Given the description of an element on the screen output the (x, y) to click on. 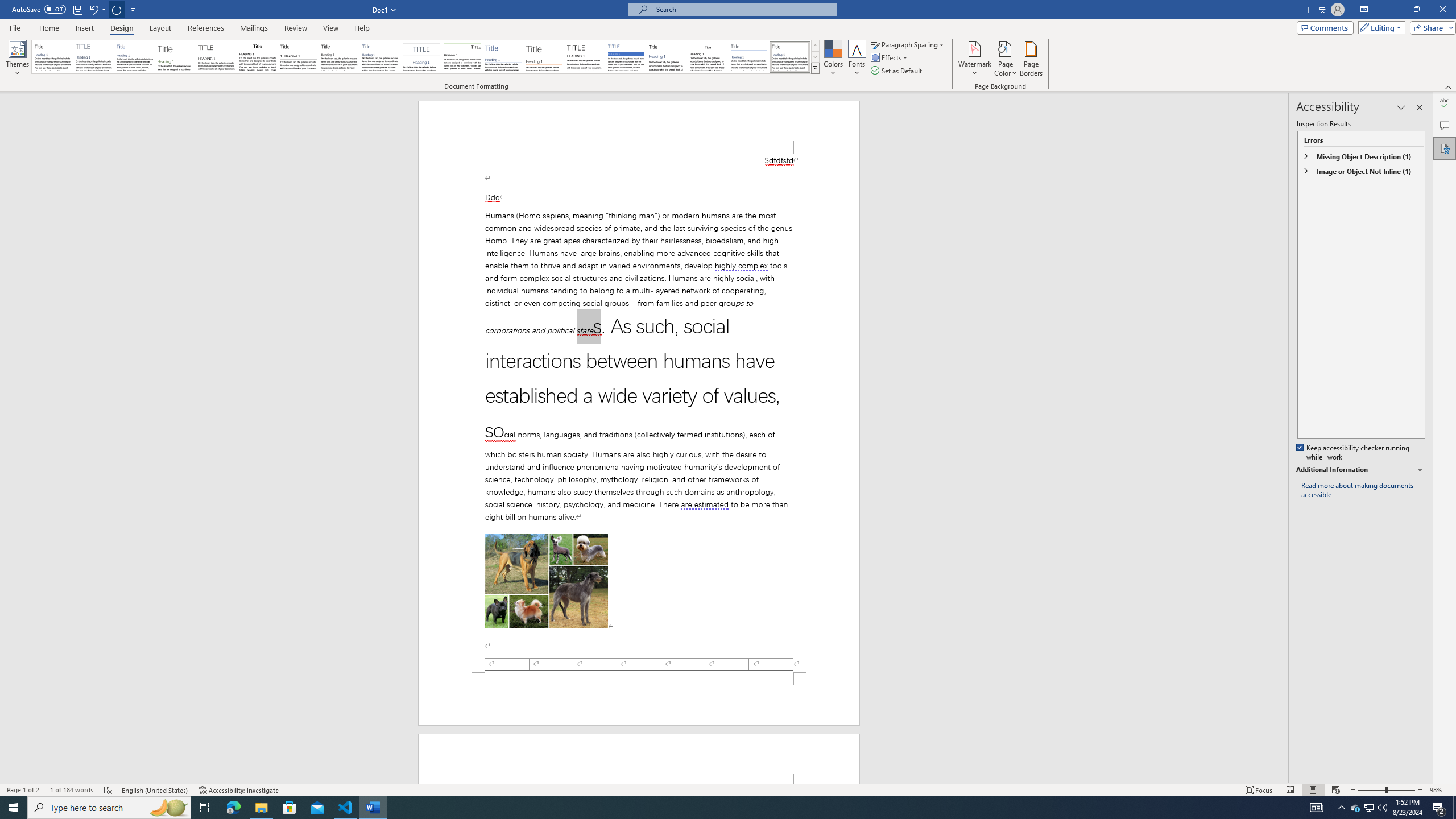
Centered (421, 56)
Lines (Distinctive) (462, 56)
Set as Default (897, 69)
Undo Apply Quick Style Set (96, 9)
